Given the description of an element on the screen output the (x, y) to click on. 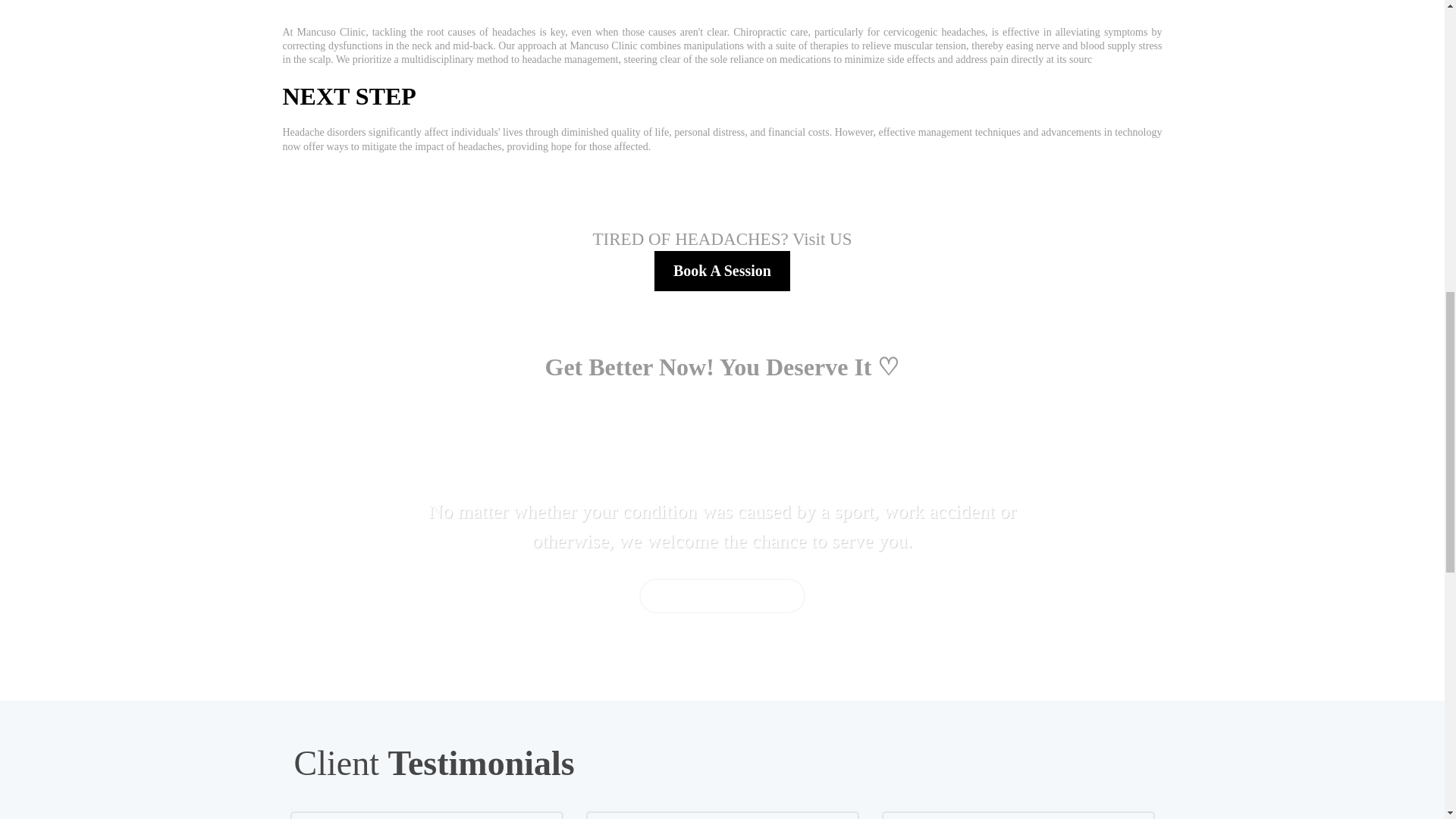
Schedule an Appointment (722, 595)
Book A Session (721, 270)
